Given the description of an element on the screen output the (x, y) to click on. 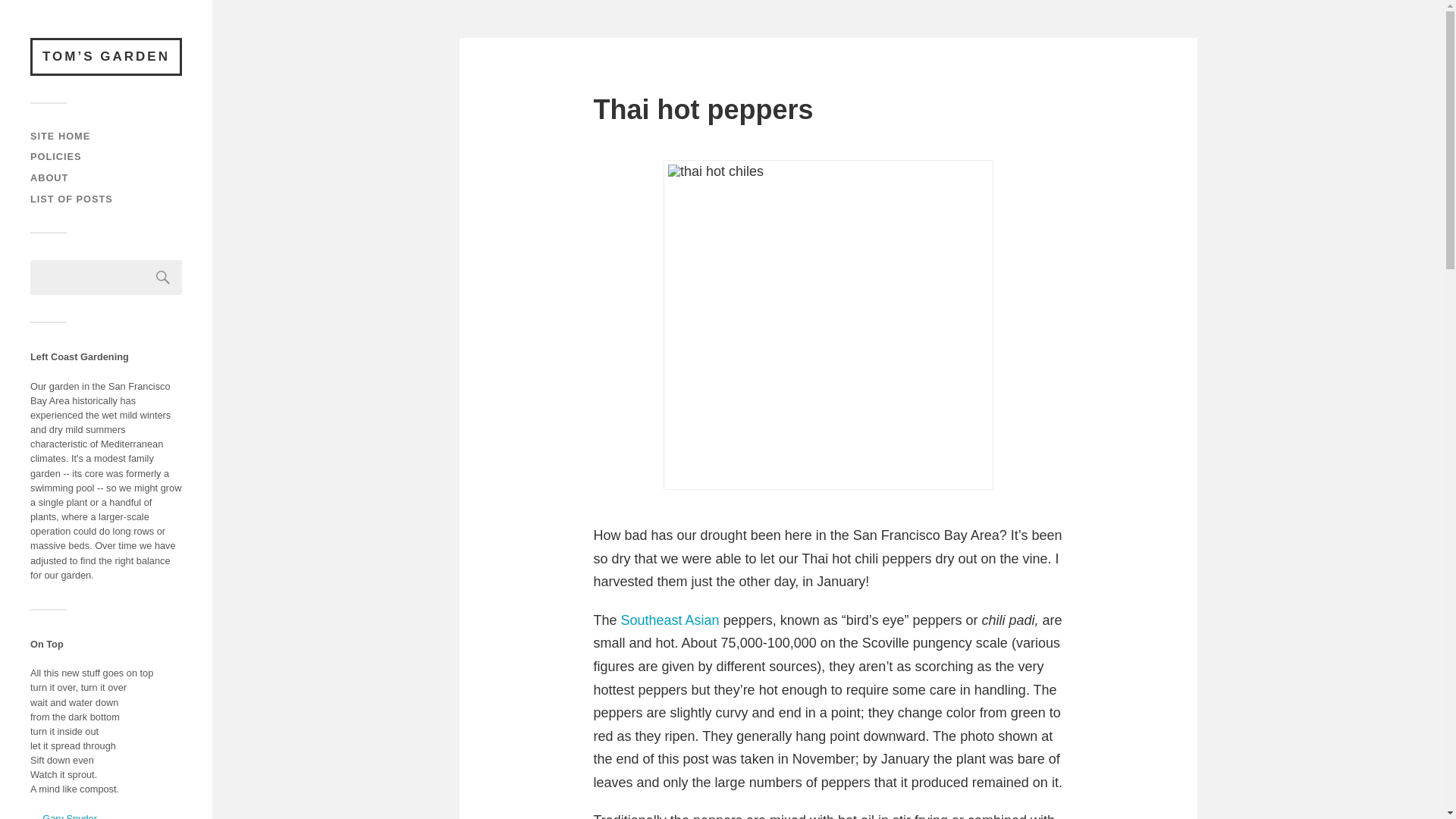
SITE HOME (60, 135)
southeast asia (670, 620)
POLICIES (55, 156)
LIST OF POSTS (71, 198)
Southeast Asian (670, 620)
Search (163, 277)
Gary Snyder (69, 816)
thai hot chiles harvested in san francisco bay area garden (827, 324)
ABOUT (49, 177)
Search (163, 277)
